Given the description of an element on the screen output the (x, y) to click on. 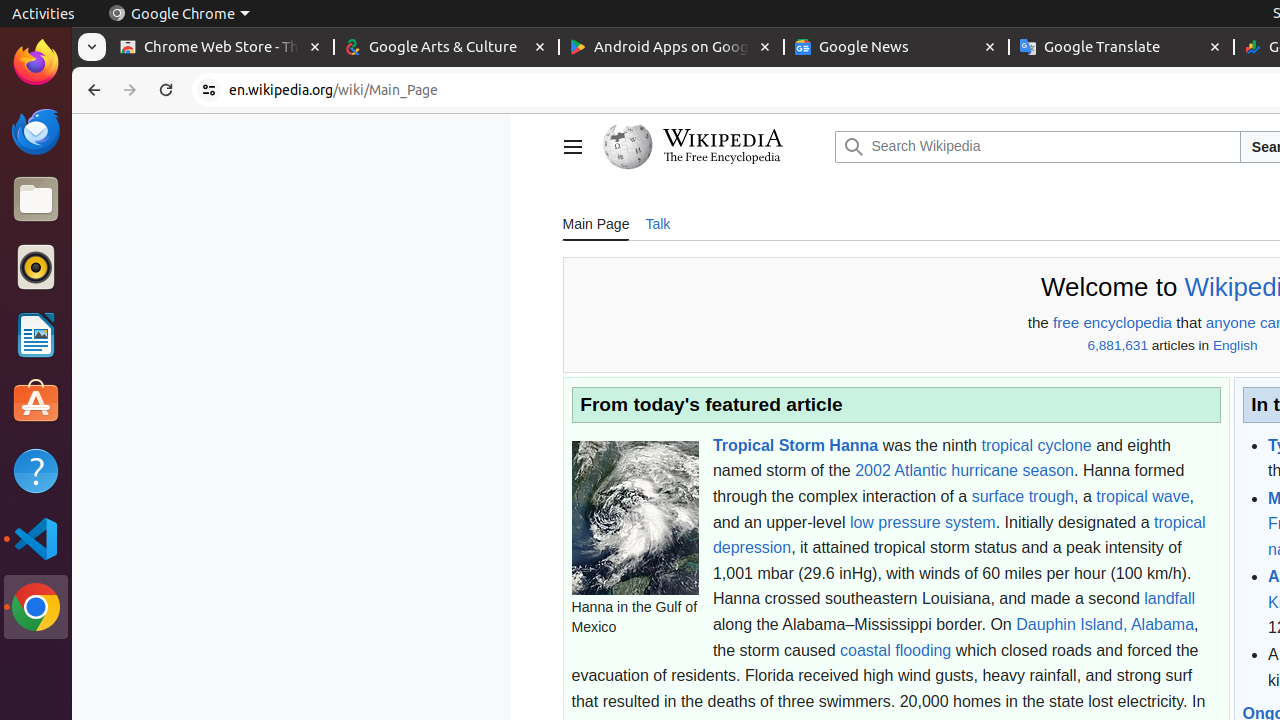
Android Apps on Google Play - Memory usage - 103 MB Element type: page-tab (671, 47)
Back Element type: push-button (91, 90)
Thunderbird Mail Element type: push-button (36, 131)
Hanna in the Gulf of Mexico Element type: link (635, 517)
Forward Element type: push-button (130, 90)
